Given the description of an element on the screen output the (x, y) to click on. 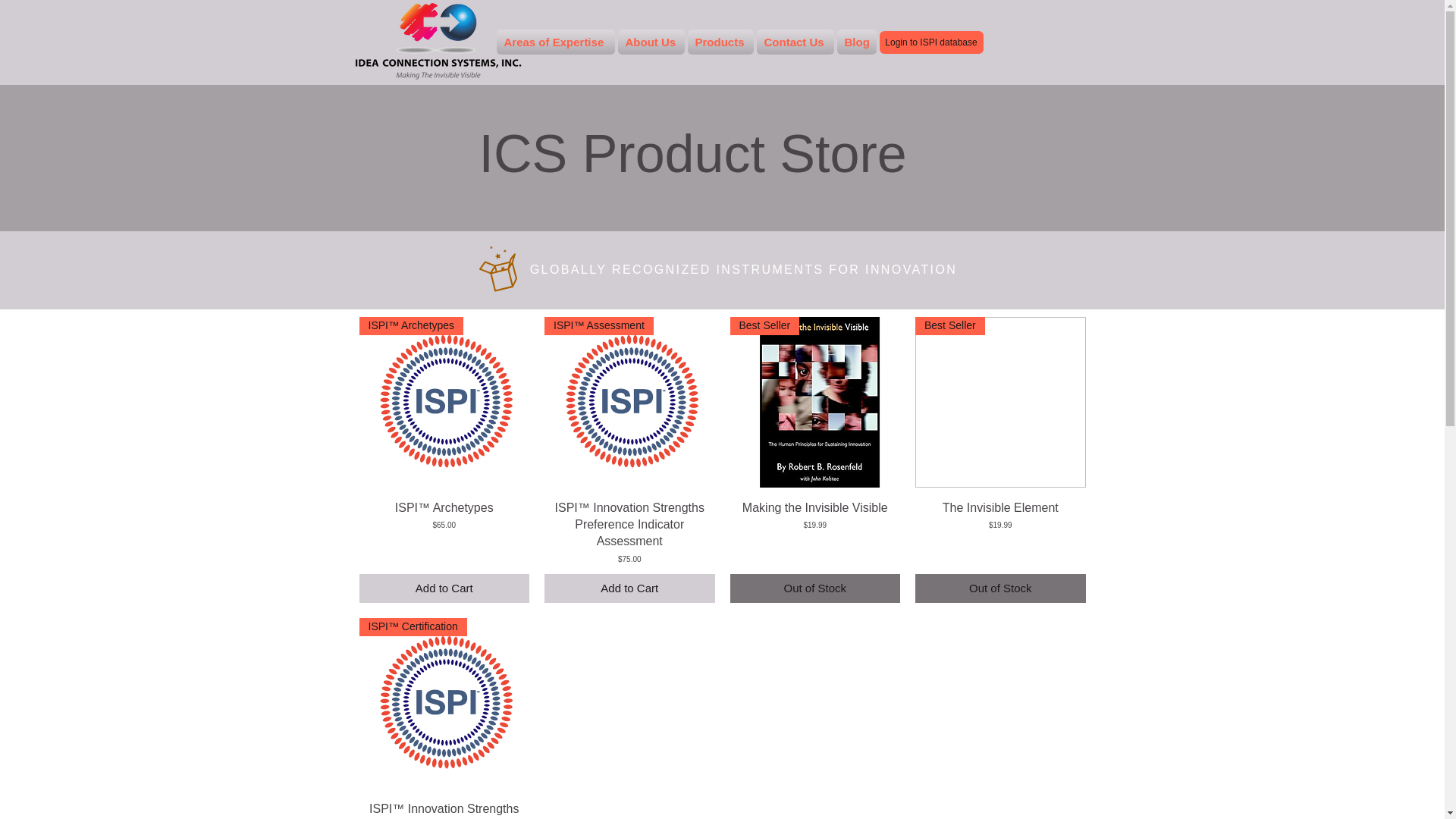
Products (719, 41)
Best Seller (814, 401)
Add to Cart (629, 588)
Home button (437, 43)
Add to Cart (444, 588)
Login to ISPI database (931, 41)
Blog (855, 41)
Out of Stock (814, 588)
Areas of Expertise (555, 41)
Contact Us (795, 41)
Out of Stock (1000, 588)
Best Seller (1000, 401)
About Us (650, 41)
